Given the description of an element on the screen output the (x, y) to click on. 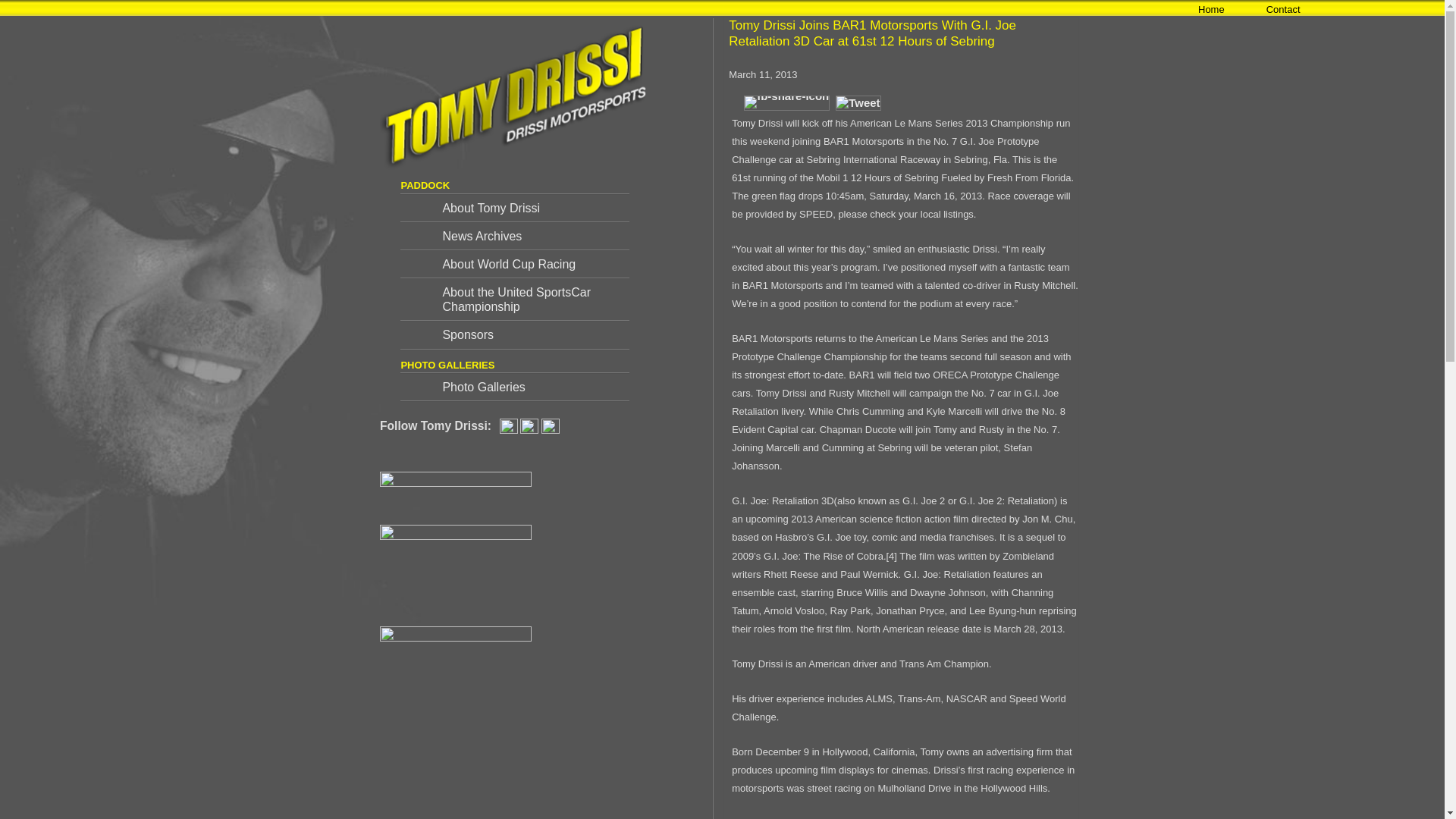
Photo Galleries (514, 387)
About World Cup Racing (514, 264)
Facebook Share (786, 102)
About the United SportsCar Championship (514, 300)
Home (1190, 12)
Sponsors (514, 334)
Tweet (857, 102)
Contact (1262, 12)
News Archives (514, 236)
About Tomy Drissi (514, 207)
